Given the description of an element on the screen output the (x, y) to click on. 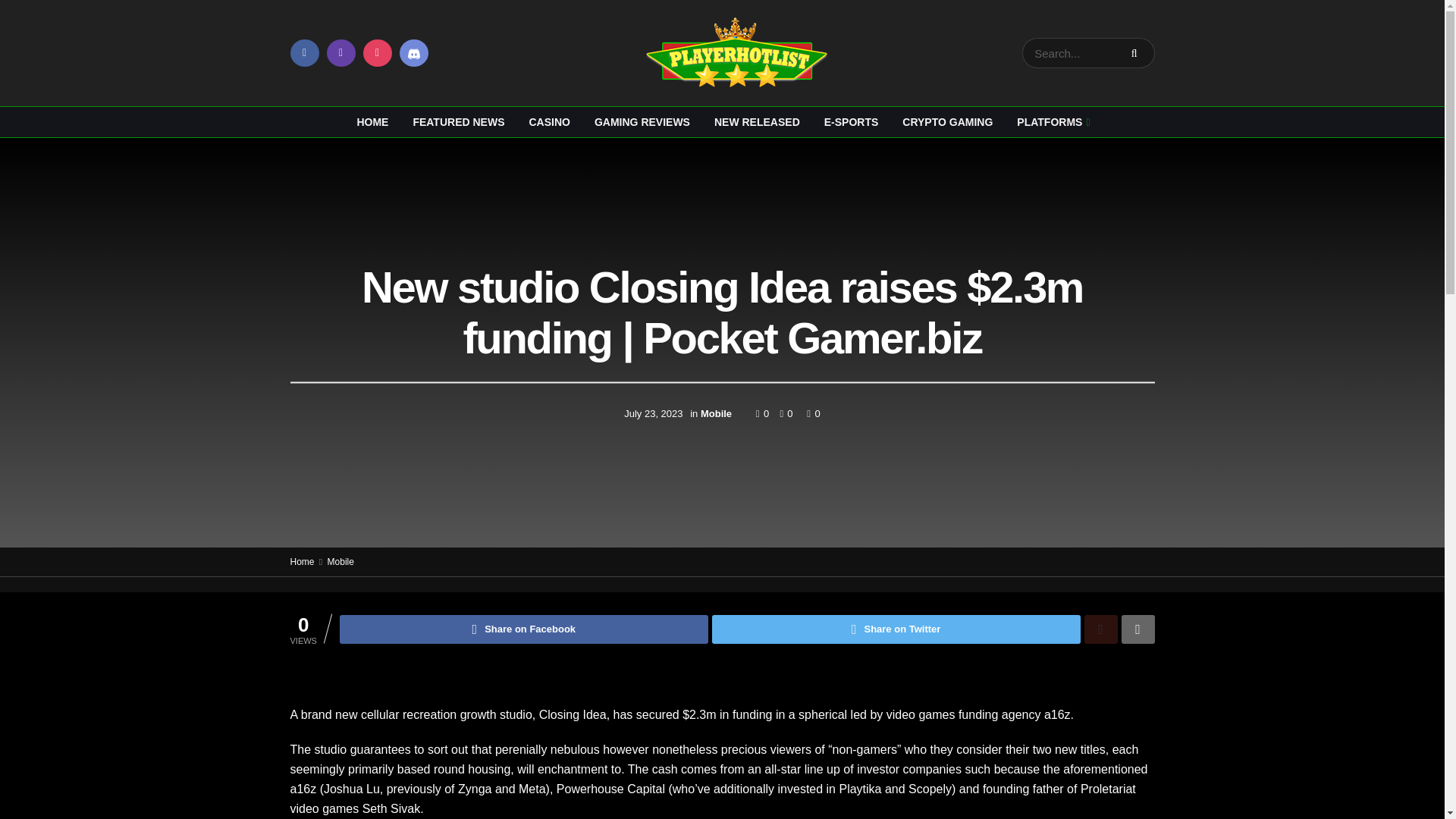
GAMING REVIEWS (641, 122)
E-SPORTS (851, 122)
NEW RELEASED (756, 122)
July 23, 2023 (653, 413)
CASINO (548, 122)
FEATURED NEWS (458, 122)
PLATFORMS (1051, 122)
CRYPTO GAMING (946, 122)
HOME (371, 122)
